Given the description of an element on the screen output the (x, y) to click on. 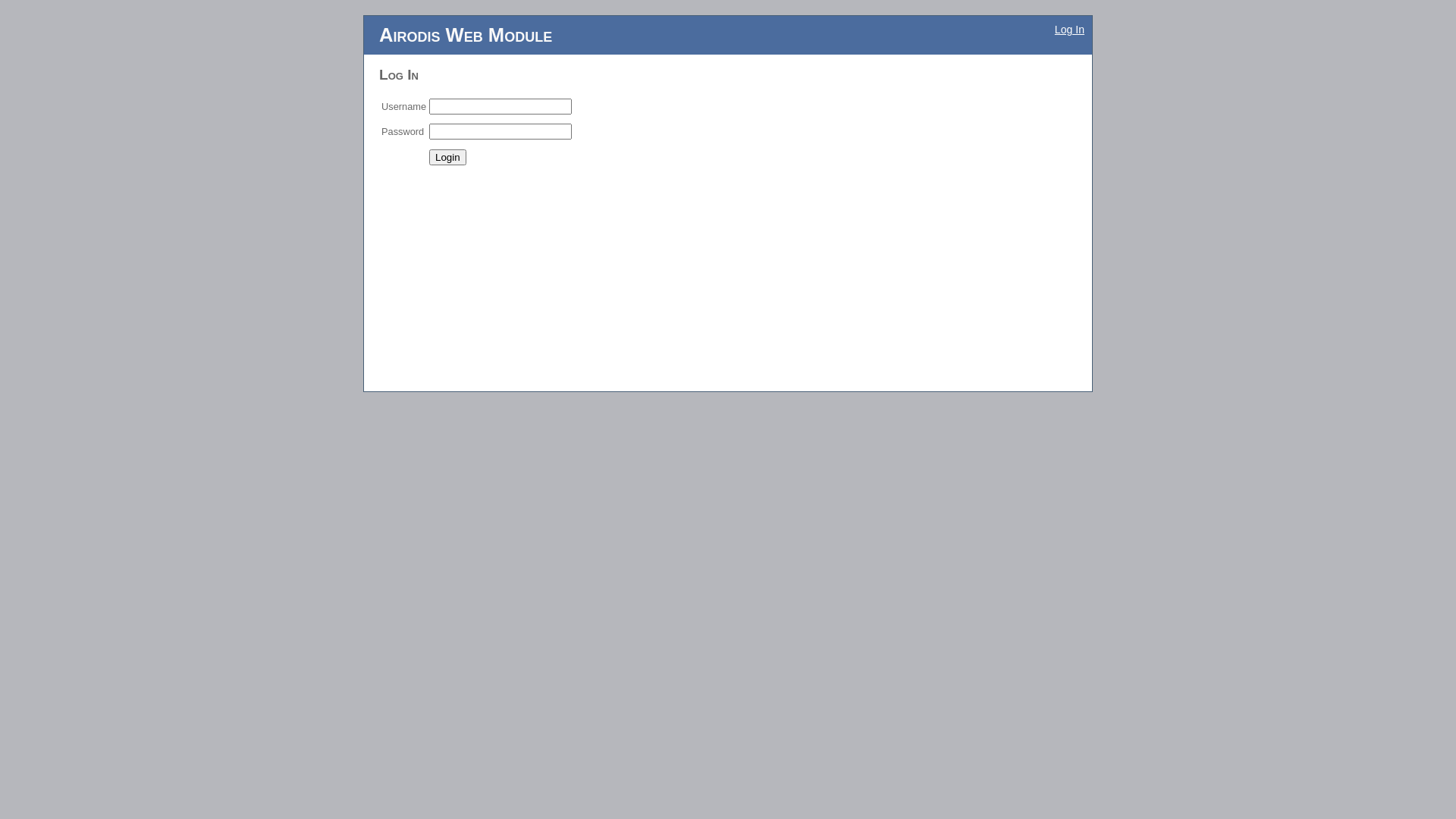
Log In Element type: text (1069, 29)
Login Element type: text (447, 157)
